Given the description of an element on the screen output the (x, y) to click on. 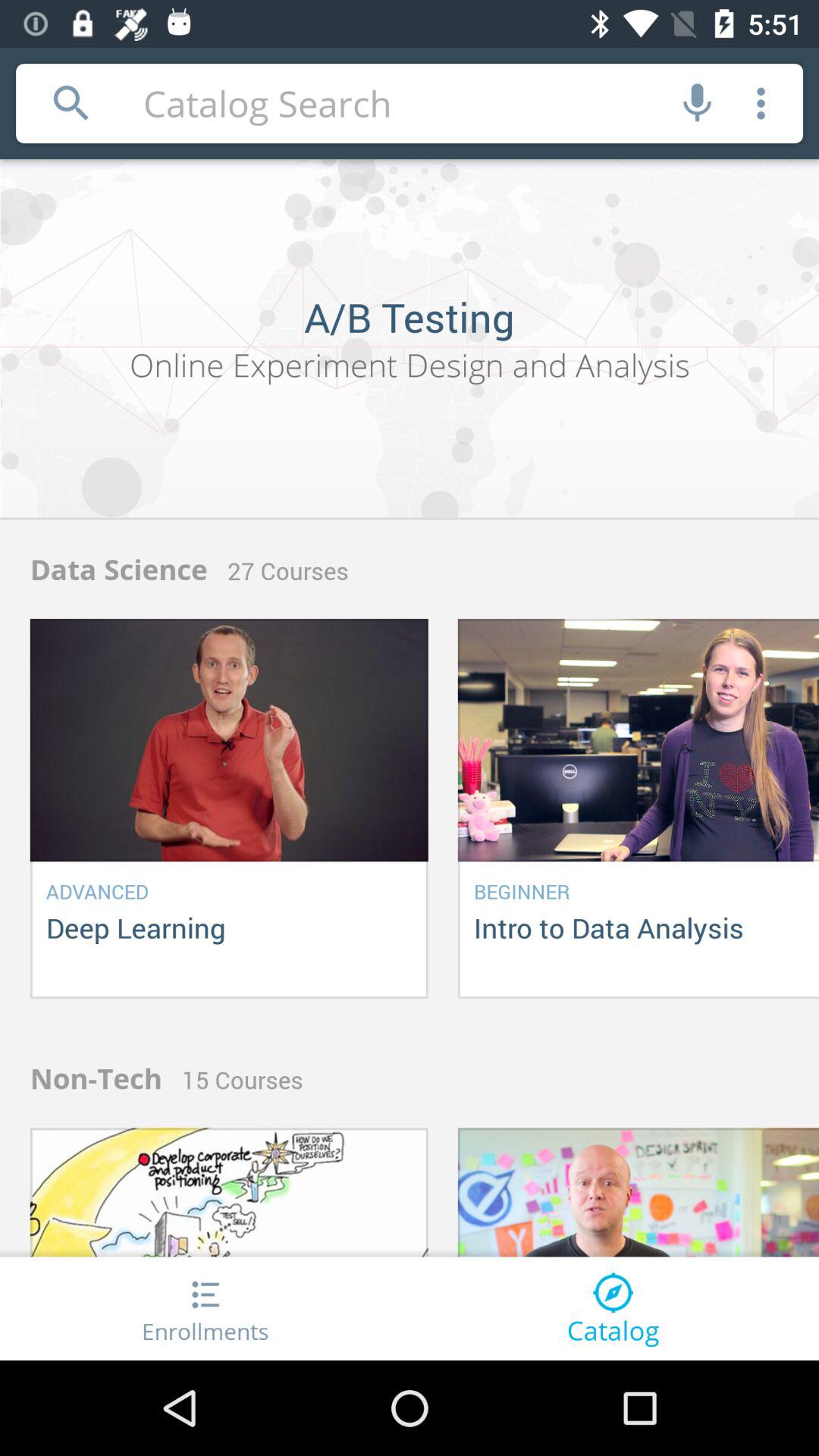
more settings (760, 103)
